Given the description of an element on the screen output the (x, y) to click on. 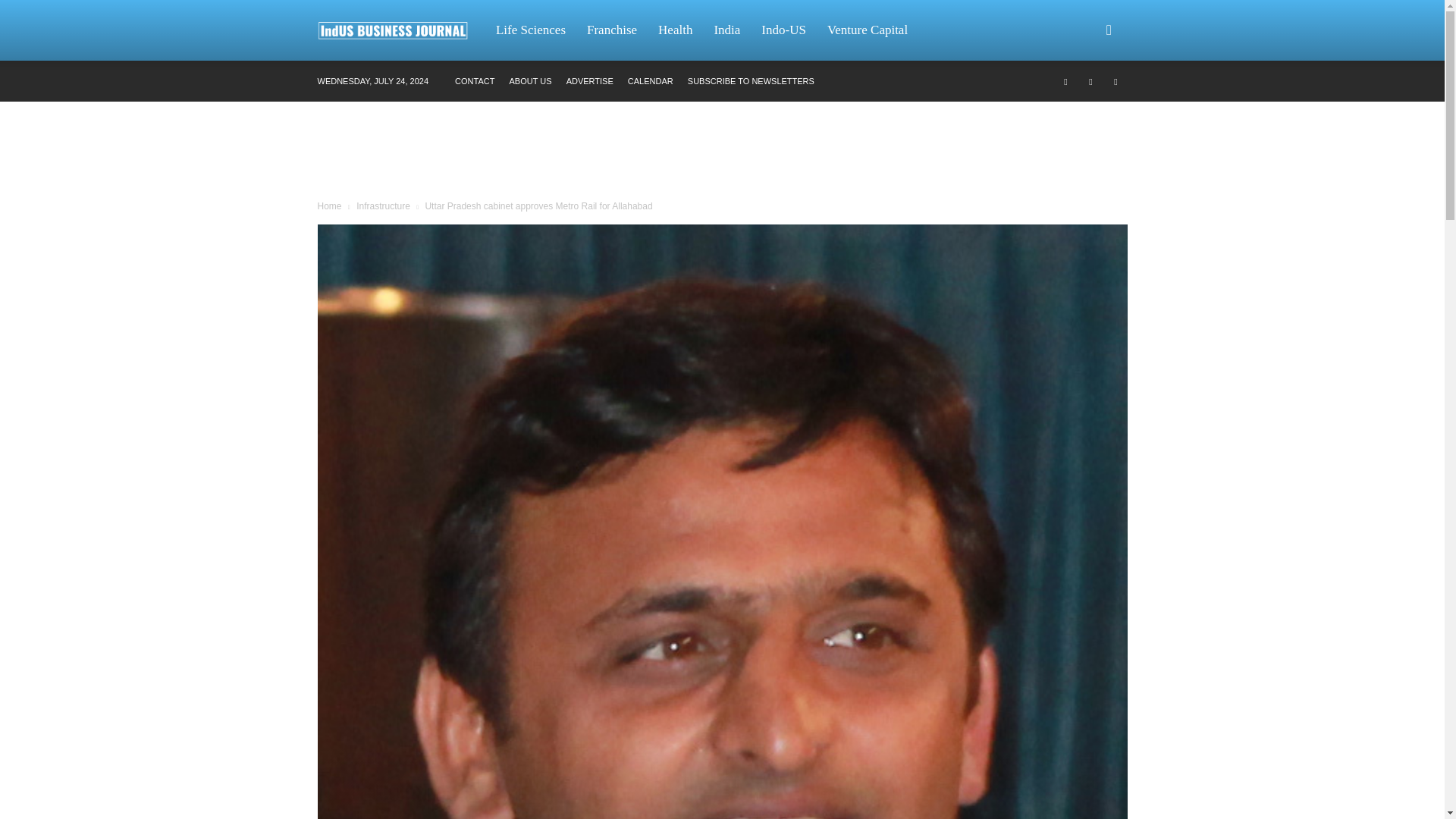
Franchise (611, 30)
Venture Capital (867, 30)
IndUS Business Journal (400, 30)
ADVERTISE (589, 80)
Life Sciences (530, 30)
View all posts in Infrastructure (383, 205)
CALENDAR (649, 80)
Home (328, 205)
CONTACT (474, 80)
Infrastructure (383, 205)
SUBSCRIBE TO NEWSLETTERS (750, 80)
ABOUT US (530, 80)
Health (675, 30)
Indo-US (783, 30)
Search (1085, 102)
